Given the description of an element on the screen output the (x, y) to click on. 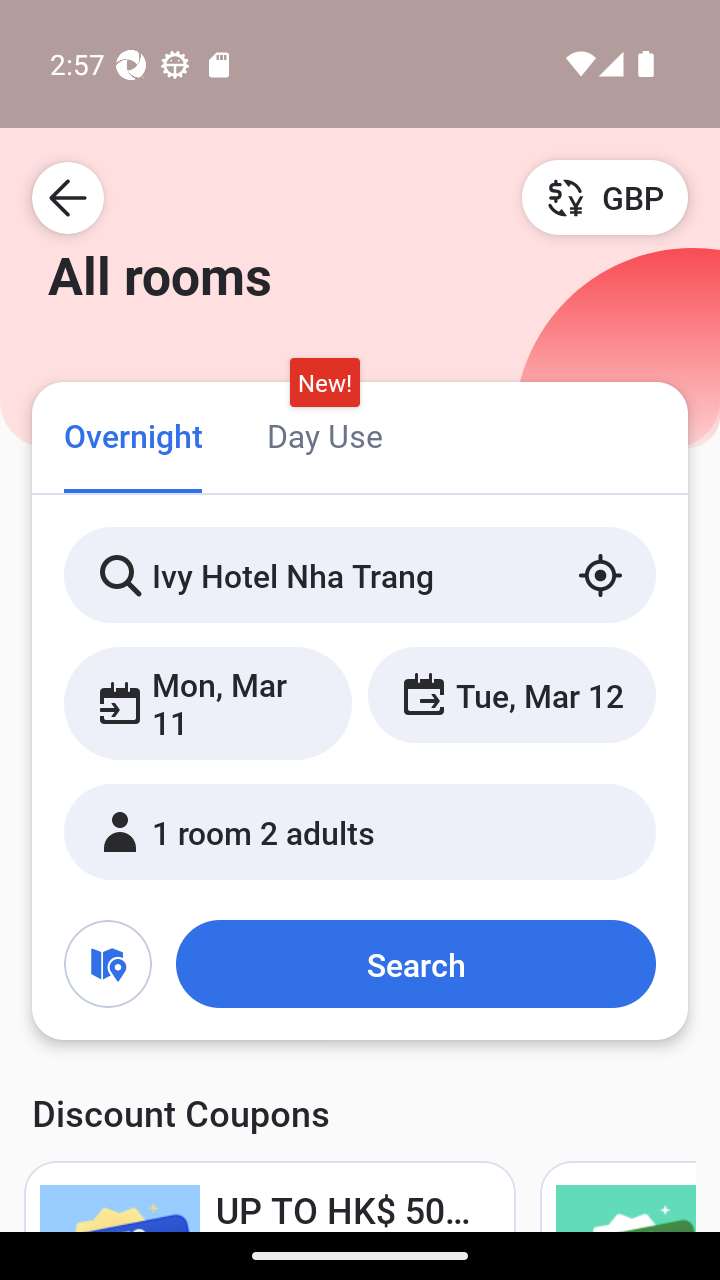
GBP (605, 197)
New! (324, 383)
Day Use (324, 434)
Ivy Hotel Nha Trang (359, 575)
Mon, Mar 11 (208, 703)
Tue, Mar 12 (511, 694)
1 room 2 adults (359, 831)
Search (415, 964)
